Given the description of an element on the screen output the (x, y) to click on. 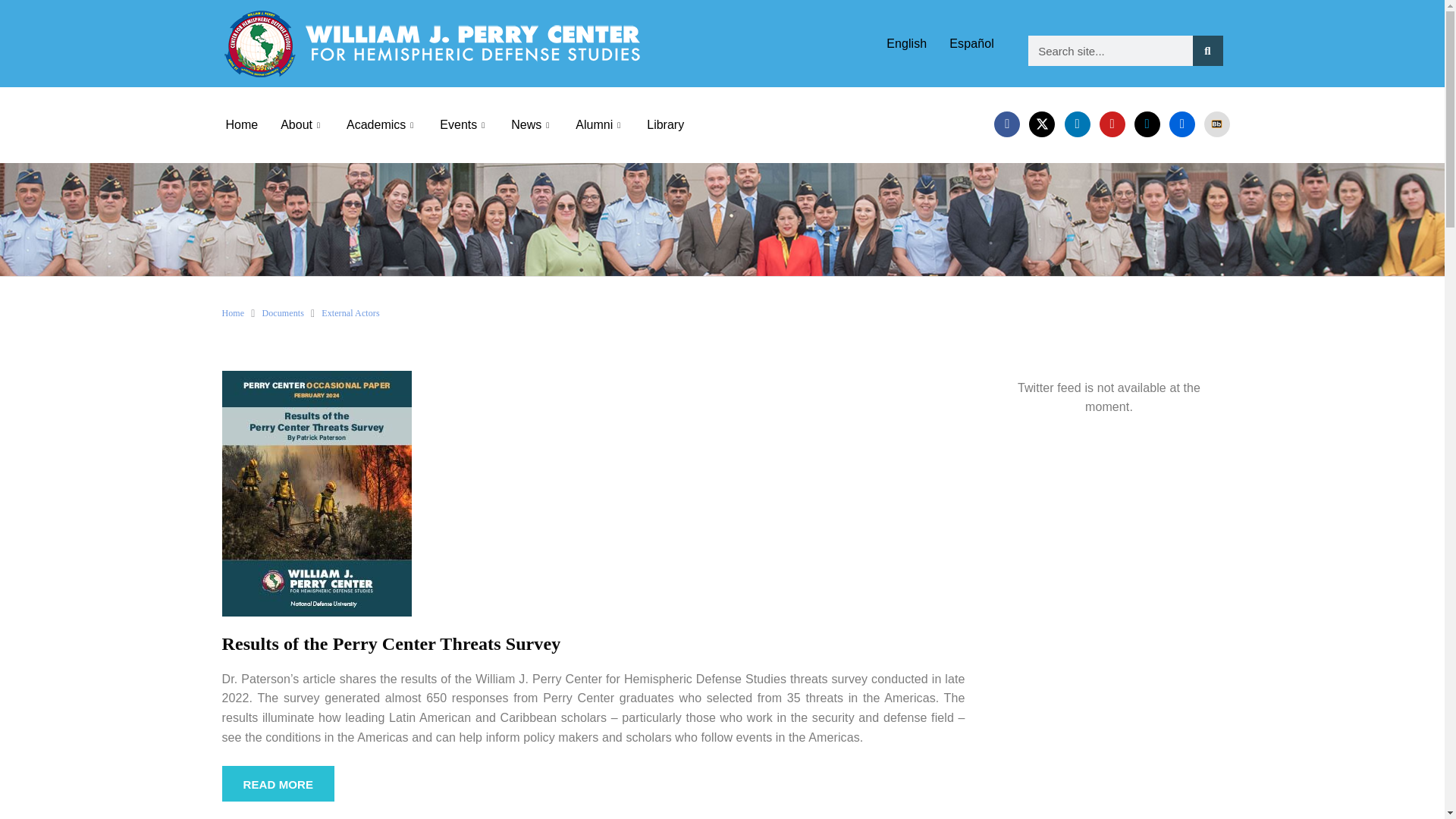
English (906, 42)
Results of the Perry Center Threats Survey (315, 492)
